Given the description of an element on the screen output the (x, y) to click on. 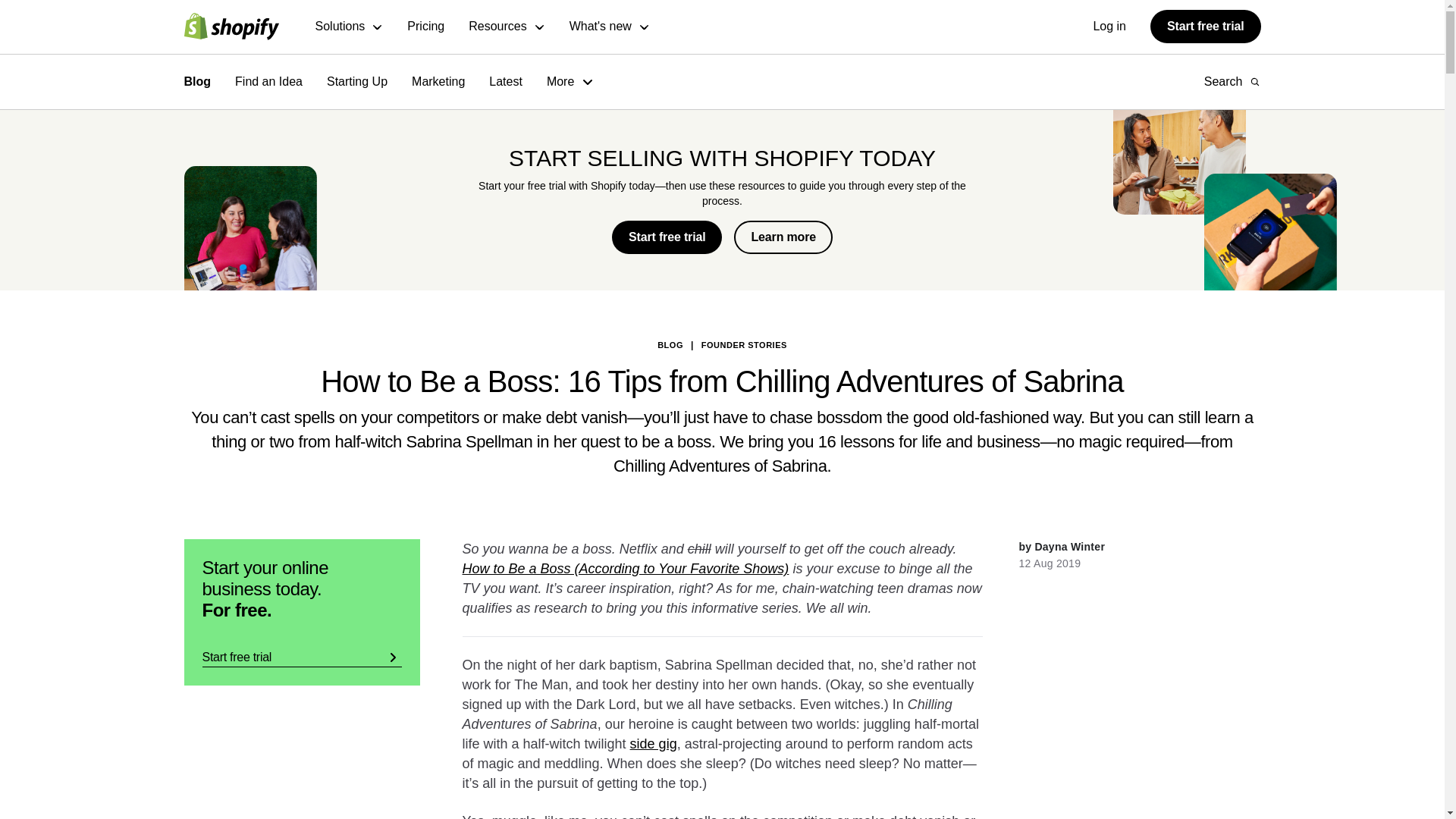
Resources (506, 27)
Pricing (425, 27)
Solutions (349, 27)
